Given the description of an element on the screen output the (x, y) to click on. 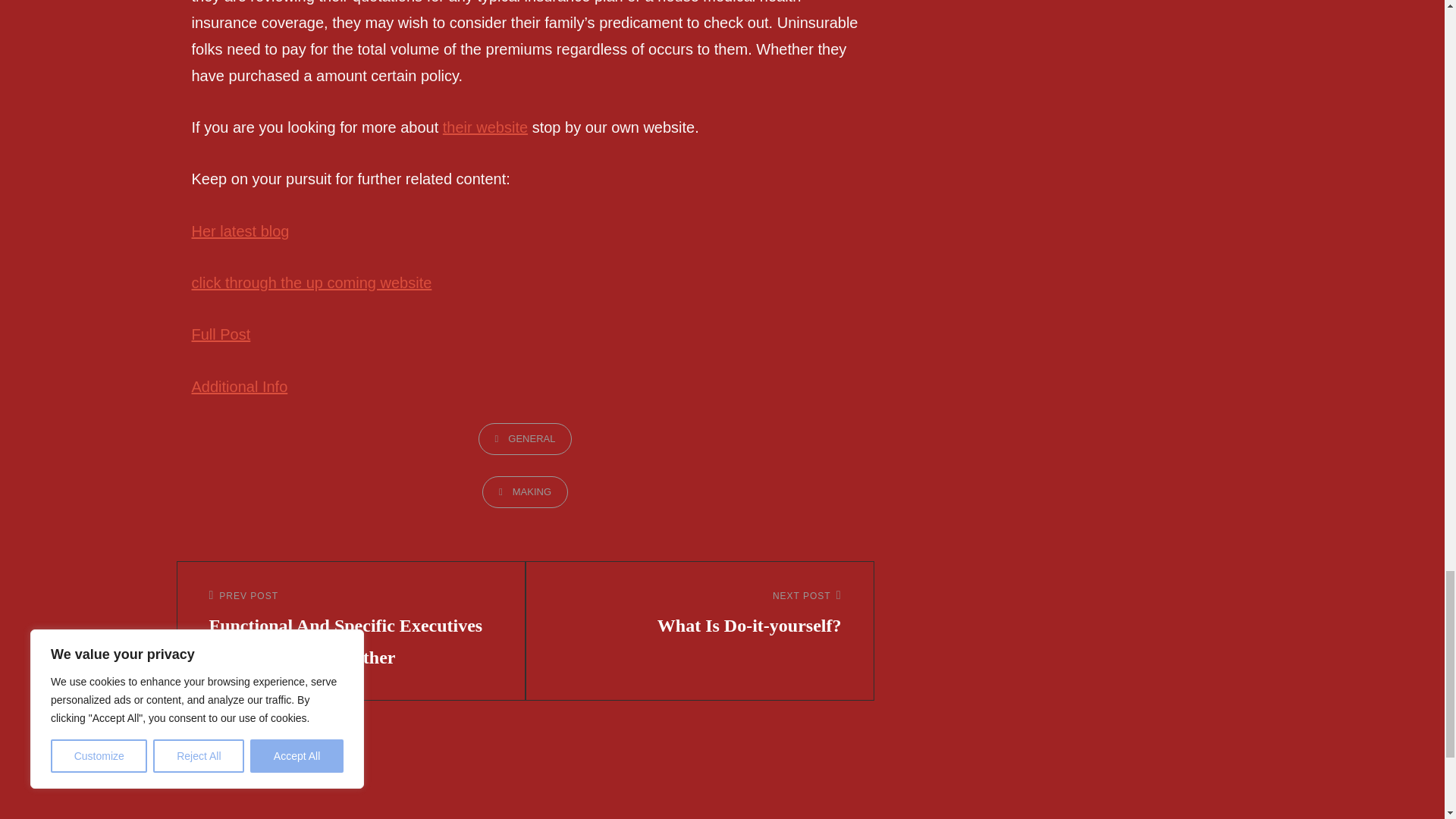
click through the up coming website (310, 282)
MAKING (524, 491)
Additional Info (238, 386)
GENERAL (525, 439)
their website (699, 614)
Her latest blog (484, 126)
Full Post (239, 230)
